Given the description of an element on the screen output the (x, y) to click on. 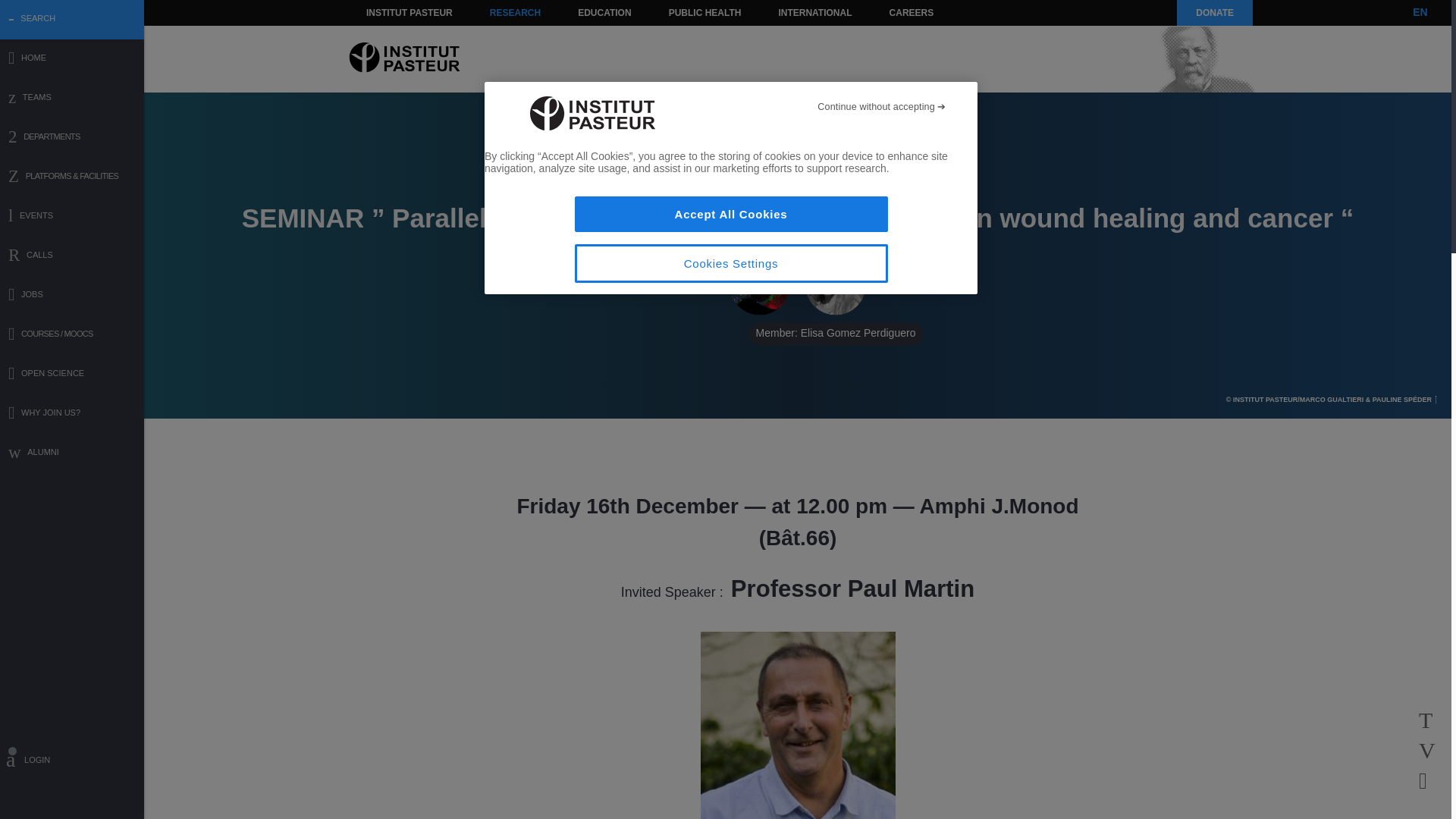
CAREERS (911, 12)
LOGIN (72, 762)
TEAMS (72, 98)
OPEN SCIENCE (72, 374)
DEPARTMENTS (72, 137)
Member: Elisa Gomez Perdiguero (835, 283)
Skip to content (387, 11)
INSTITUT PASTEUR (409, 12)
INTERNATIONAL (814, 12)
WHY JOIN US? (72, 413)
HOME (72, 59)
EVENTS (72, 217)
CALLS (72, 256)
RESEARCH (515, 12)
ALUMNI (72, 454)
